Given the description of an element on the screen output the (x, y) to click on. 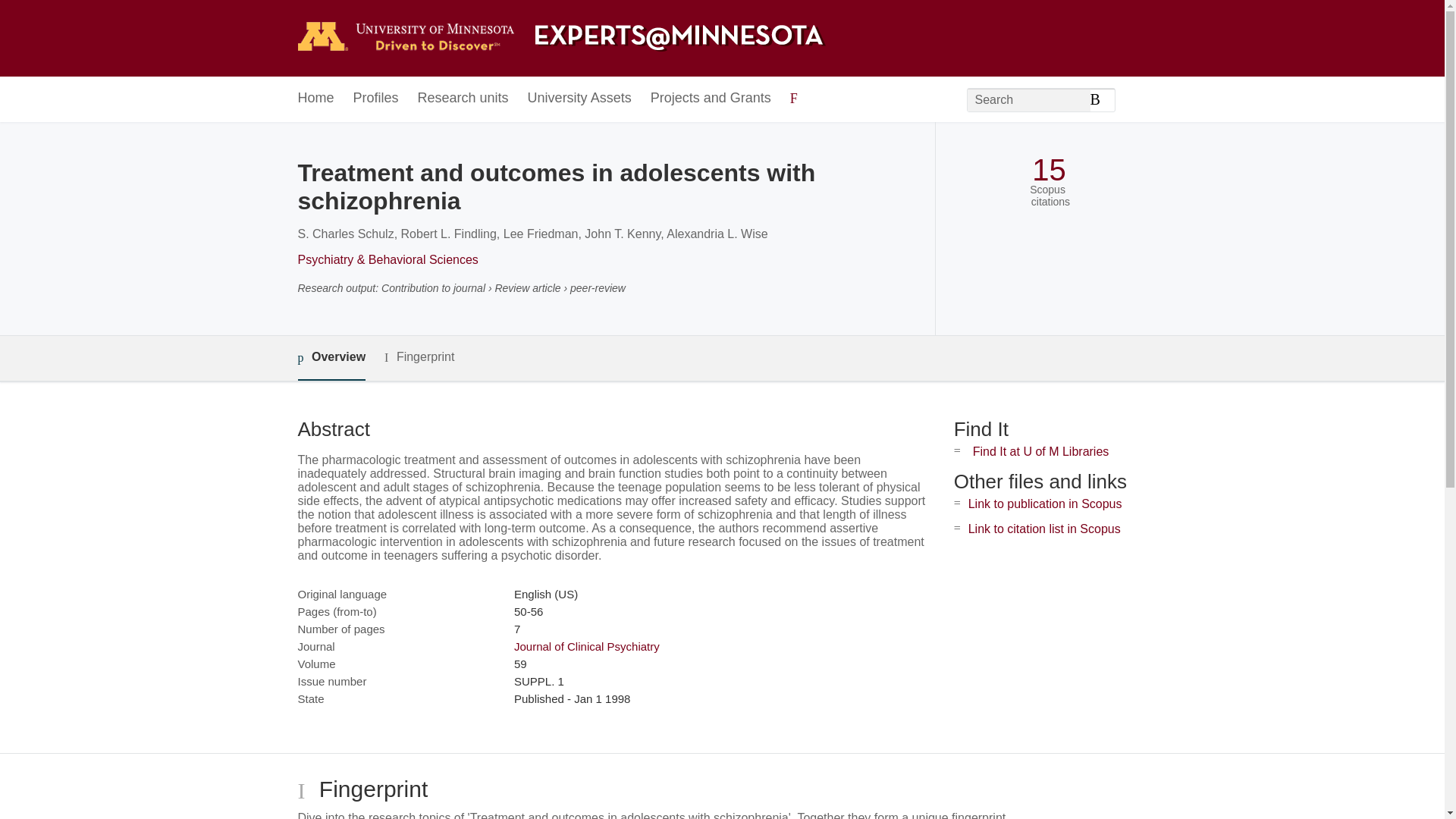
15 (1048, 170)
Research units (462, 98)
Profiles (375, 98)
Journal of Clinical Psychiatry (586, 645)
Overview (331, 357)
University Assets (579, 98)
Fingerprint (419, 357)
Link to citation list in Scopus (1044, 528)
Projects and Grants (710, 98)
